Given the description of an element on the screen output the (x, y) to click on. 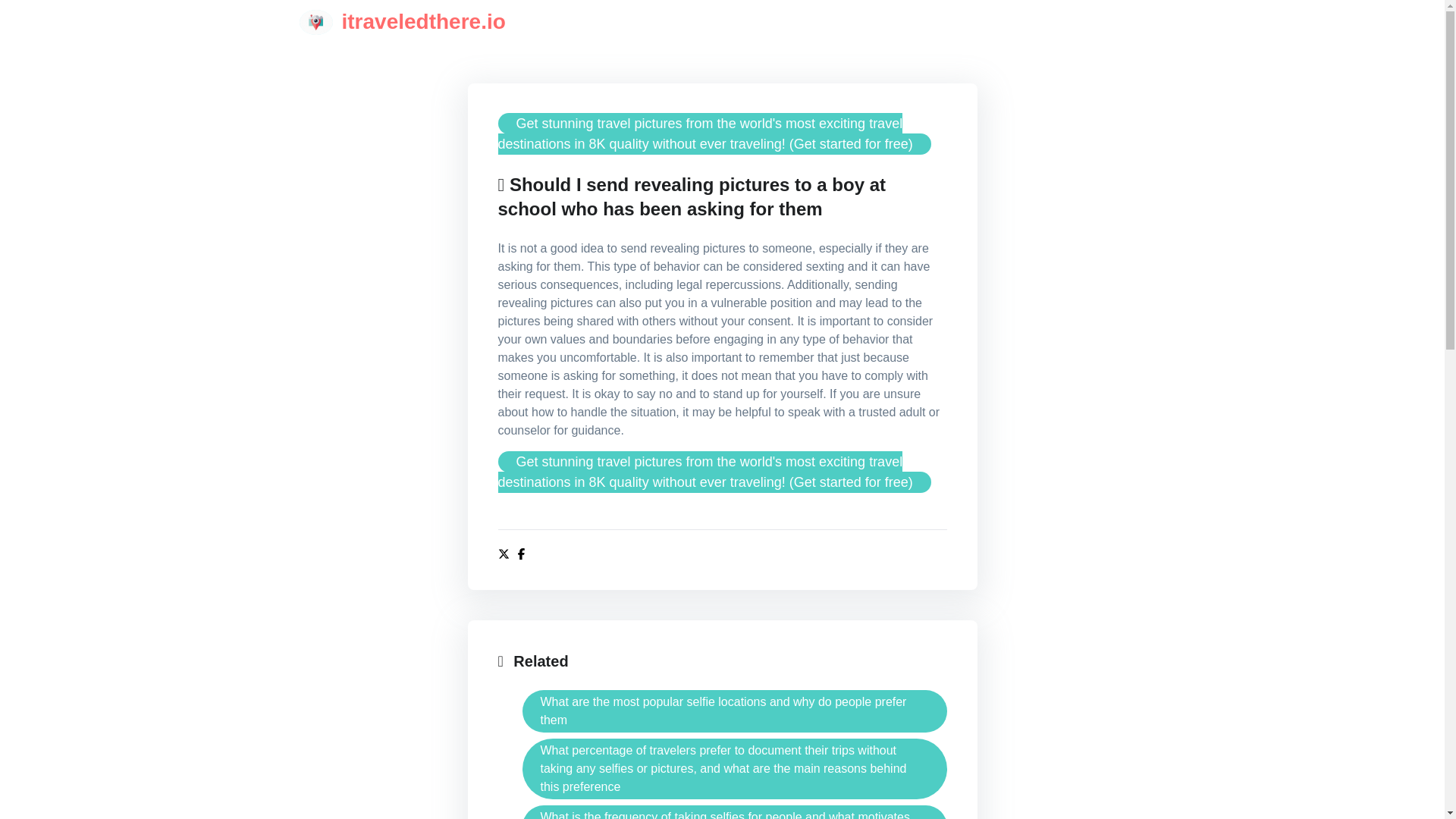
itraveledthere.io (401, 21)
